Given the description of an element on the screen output the (x, y) to click on. 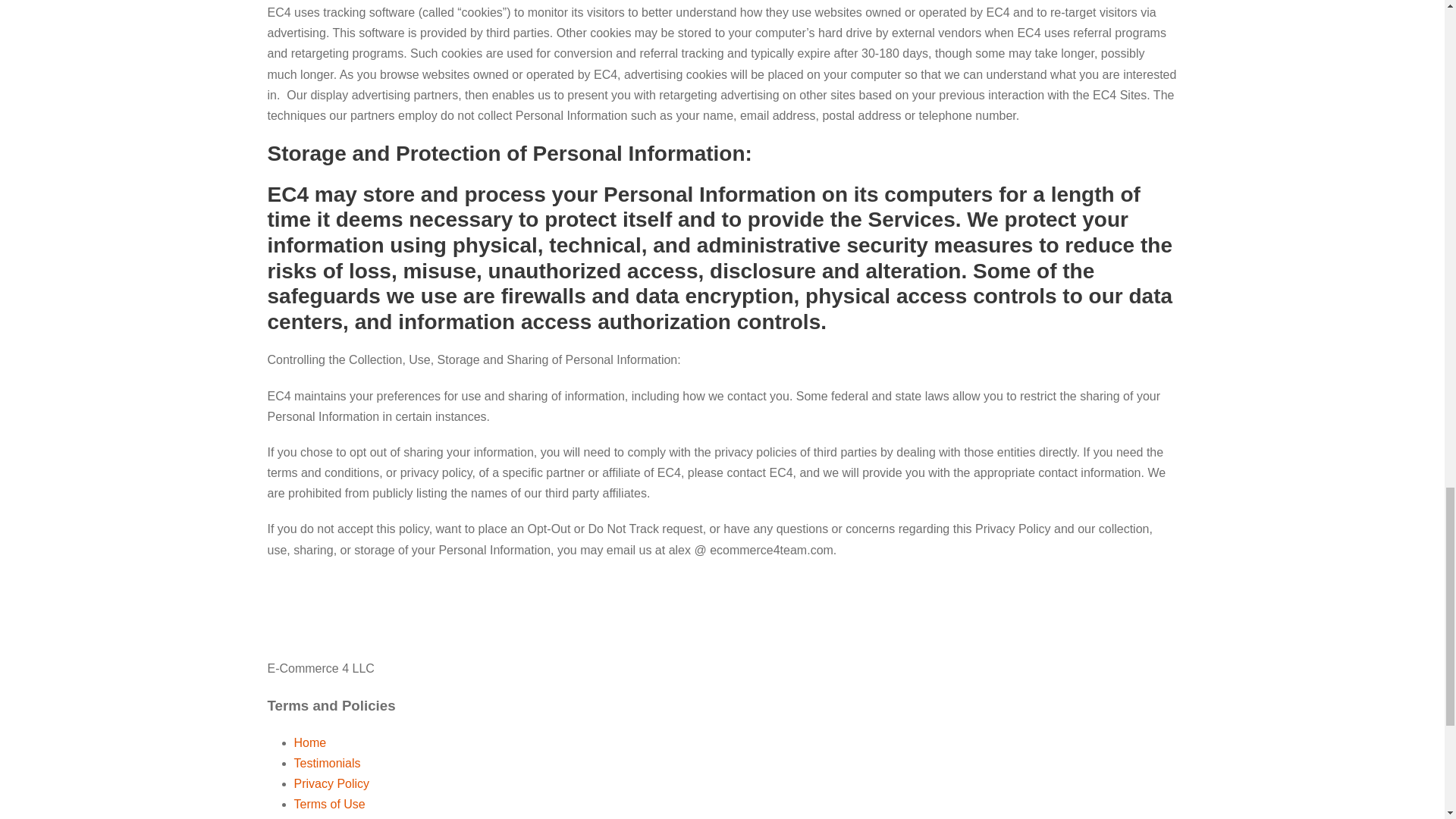
Testimonials (327, 762)
Home (310, 742)
Contact (315, 818)
Terms of Use (329, 803)
Privacy Policy (331, 783)
